Given the description of an element on the screen output the (x, y) to click on. 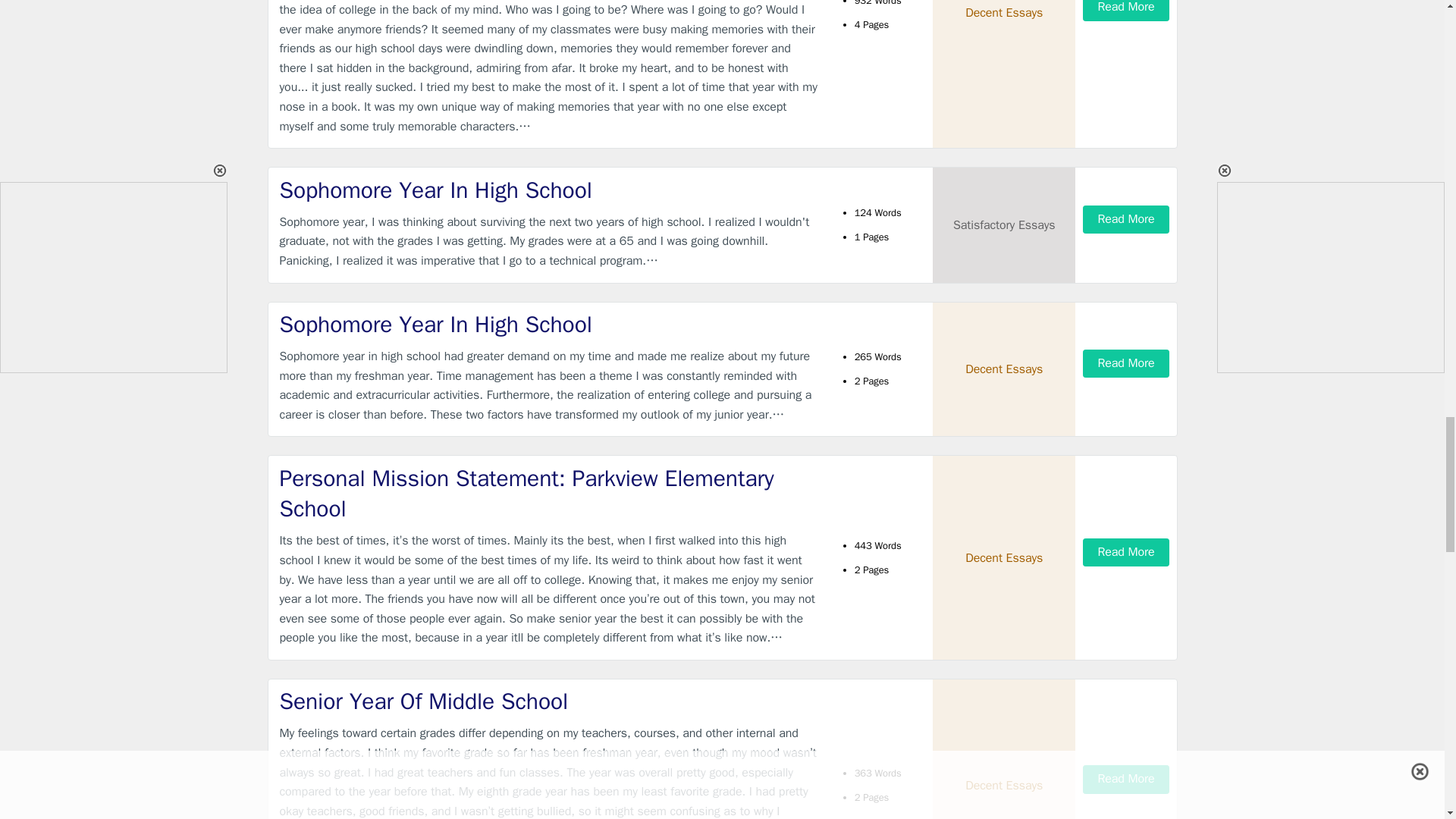
Sophomore Year In High School (548, 190)
Read More (1126, 10)
Sophomore Year In High School (548, 324)
Read More (1126, 219)
